Given the description of an element on the screen output the (x, y) to click on. 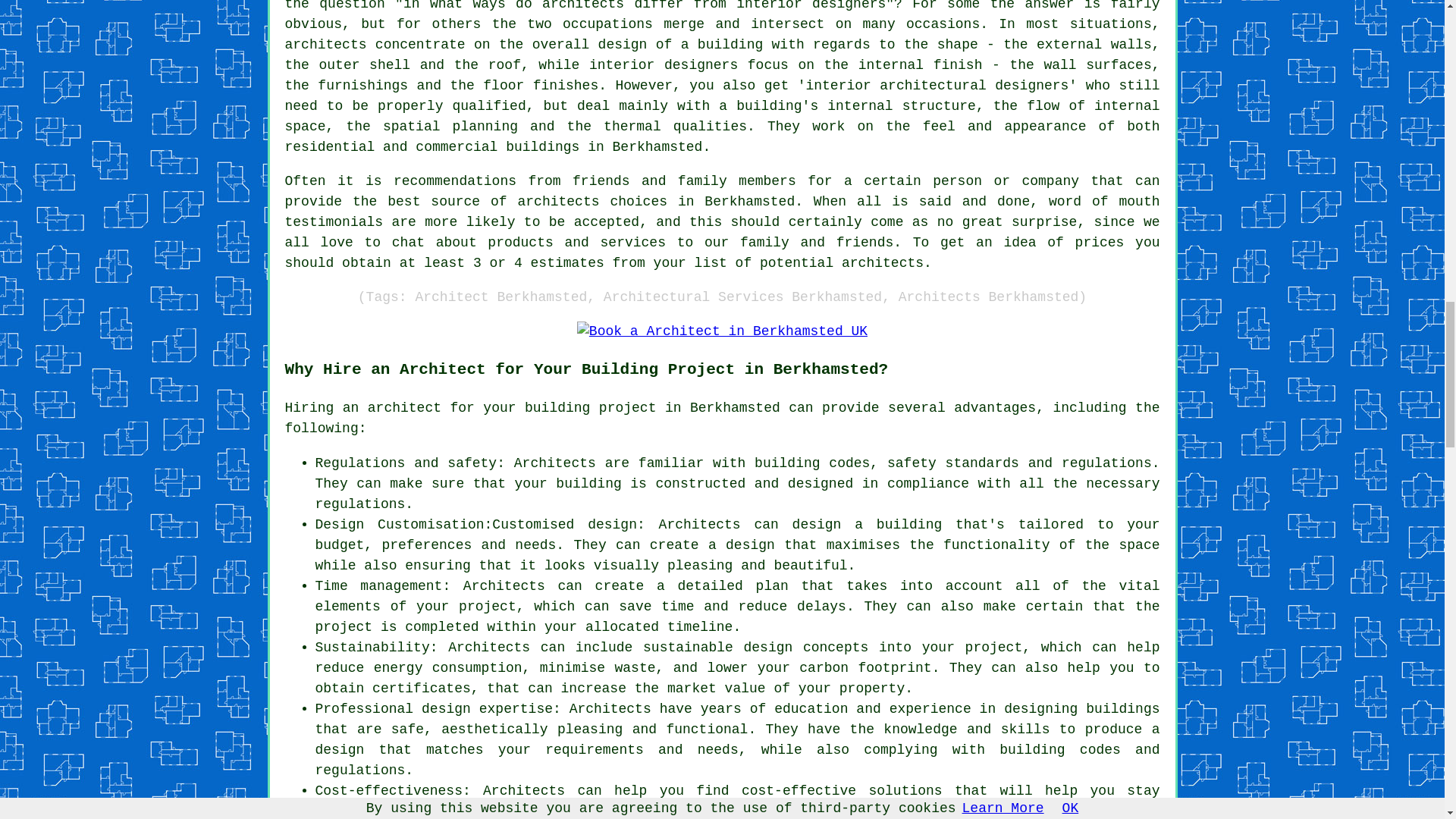
Book a Architect in Berkhamsted UK (721, 331)
an architect (391, 407)
interior architectural designers (936, 85)
